Given the description of an element on the screen output the (x, y) to click on. 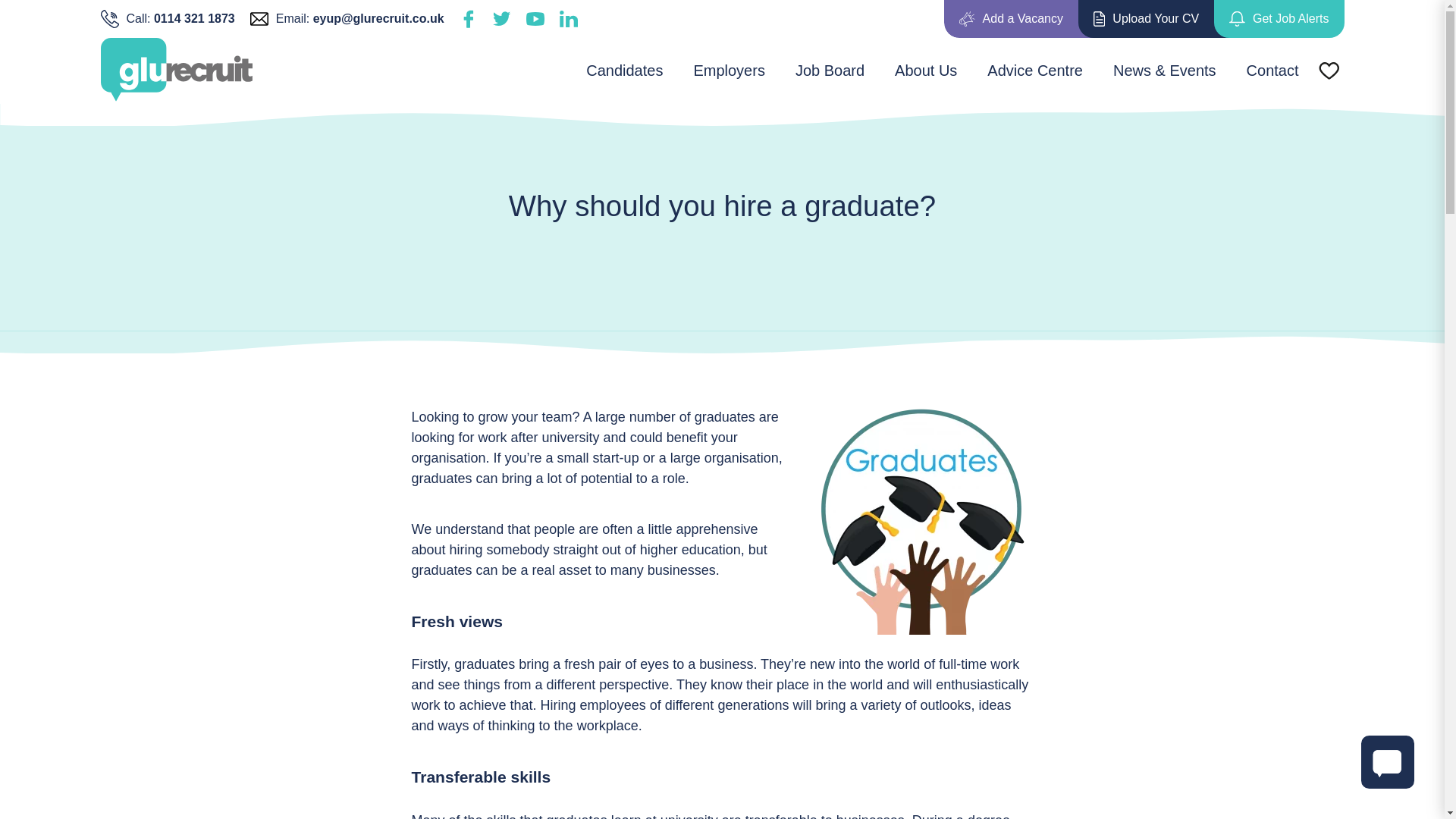
Job Board (829, 70)
Contact Us (1387, 761)
Employers (728, 70)
Contact (1272, 70)
About Us (925, 70)
Candidates (624, 70)
Jobs Shortlist (1328, 70)
Add a Vacancy (1010, 18)
Call: 0114 321 1873 (167, 18)
Advice Centre (1034, 70)
